Given the description of an element on the screen output the (x, y) to click on. 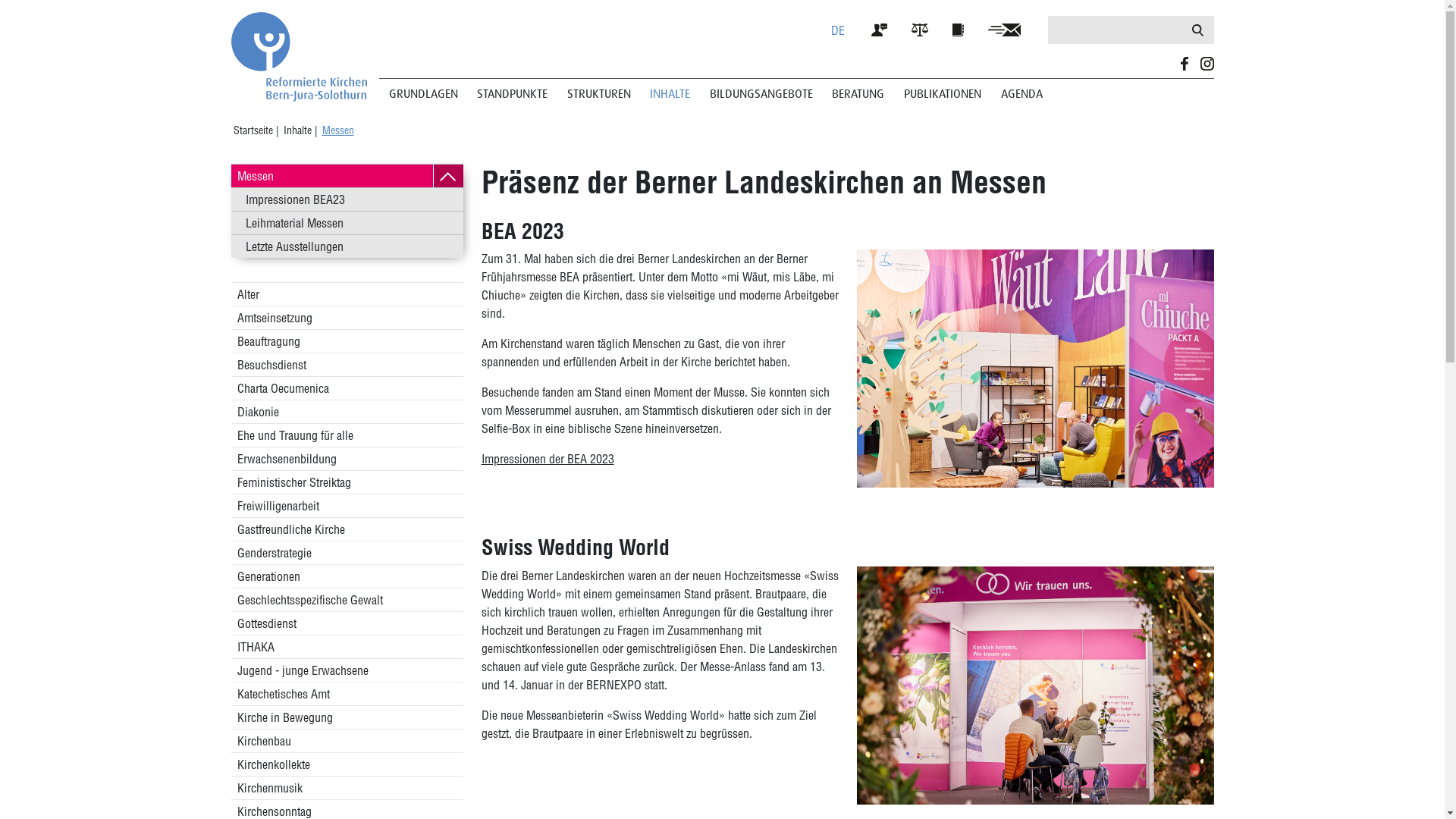
Amtseinsetzung Element type: text (346, 317)
Genderstrategie Element type: text (346, 552)
INHALTE Element type: text (669, 93)
GRUNDLAGEN Element type: text (423, 93)
Kirchenkollekte Element type: text (346, 764)
Beauftragung Element type: text (346, 340)
Facebook Element type: hover (1183, 63)
DE Element type: text (837, 30)
Letzte Ausstellungen Element type: text (346, 246)
Messen Element type: text (337, 130)
Diakonie Element type: text (346, 411)
Jugend - junge Erwachsene Element type: text (346, 669)
BERATUNG Element type: text (858, 93)
Kirche in Bewegung Element type: text (346, 717)
Kontakt Element type: hover (886, 28)
Inhalte Element type: text (298, 130)
STANDPUNKTE Element type: text (512, 93)
Gottesdienst Element type: text (346, 622)
Charta Oecumenica Element type: text (346, 387)
BILDUNGSANGEBOTE Element type: text (760, 93)
STRUKTUREN Element type: text (598, 93)
Besuchsdienst Element type: text (346, 364)
Leihmaterial Messen Element type: text (346, 222)
Freiwilligenarbeit Element type: text (346, 505)
Newsletter Element type: hover (1011, 28)
Impressionen BEA23 Element type: text (346, 199)
Kirchenbau Element type: text (346, 740)
Katechetisches Amt Element type: text (346, 693)
Messen Element type: text (331, 175)
Impressionen der BEA 2023 Element type: text (546, 458)
Startseite Element type: text (254, 130)
Generationen Element type: text (346, 575)
Adressen Element type: hover (965, 28)
Instagram Element type: hover (1206, 63)
PUBLIKATIONEN Element type: text (942, 93)
Kirchenmusik Element type: text (346, 787)
Recht Element type: hover (927, 28)
Feministischer Streiktag Element type: text (346, 481)
Gastfreundliche Kirche Element type: text (346, 528)
ITHAKA Element type: text (346, 646)
Alter Element type: text (346, 293)
AGENDA Element type: text (1021, 93)
Erwachsenenbildung Element type: text (346, 458)
Geschlechtsspezifische Gewalt Element type: text (346, 599)
